Given the description of an element on the screen output the (x, y) to click on. 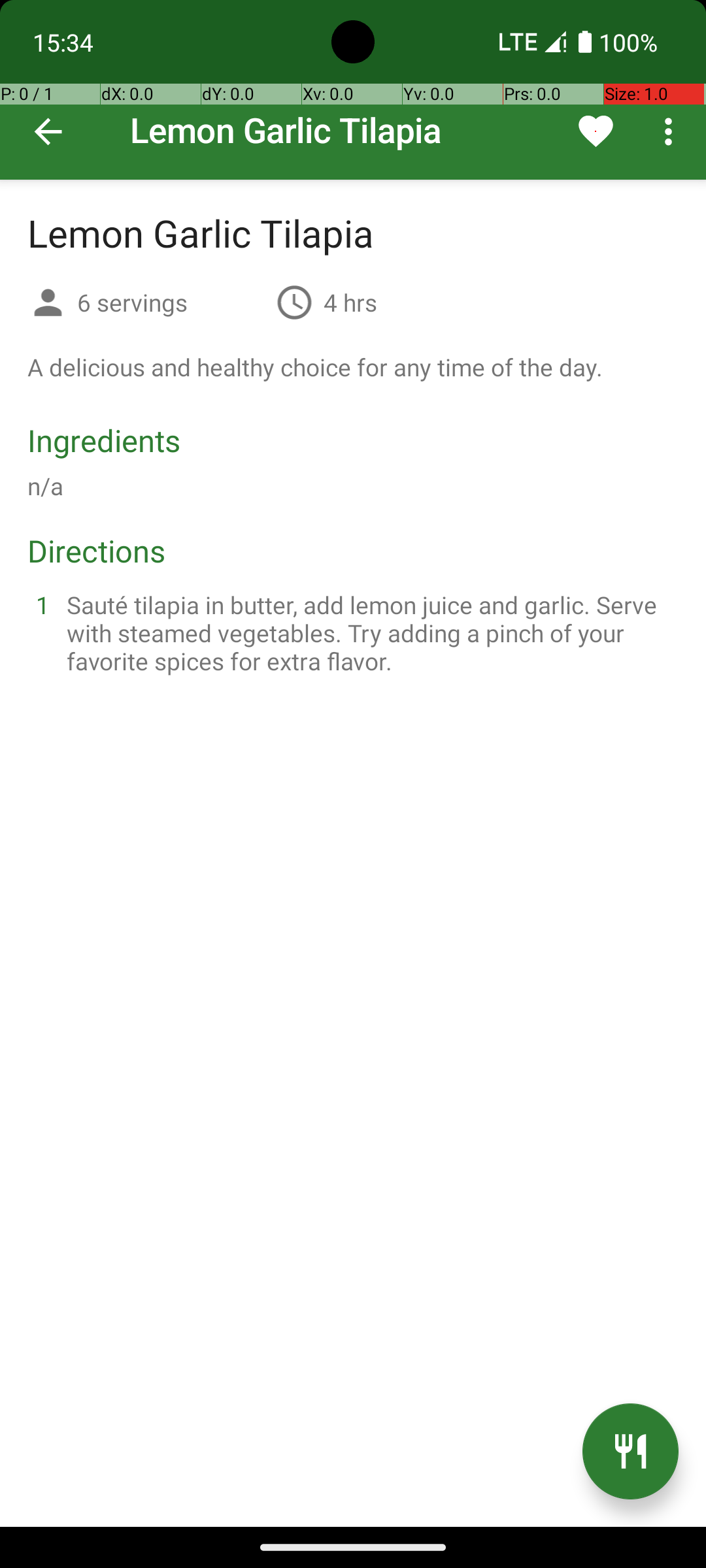
Sauté tilapia in butter, add lemon juice and garlic. Serve with steamed vegetables. Try adding a pinch of your favorite spices for extra flavor. Element type: android.widget.TextView (368, 632)
